Given the description of an element on the screen output the (x, y) to click on. 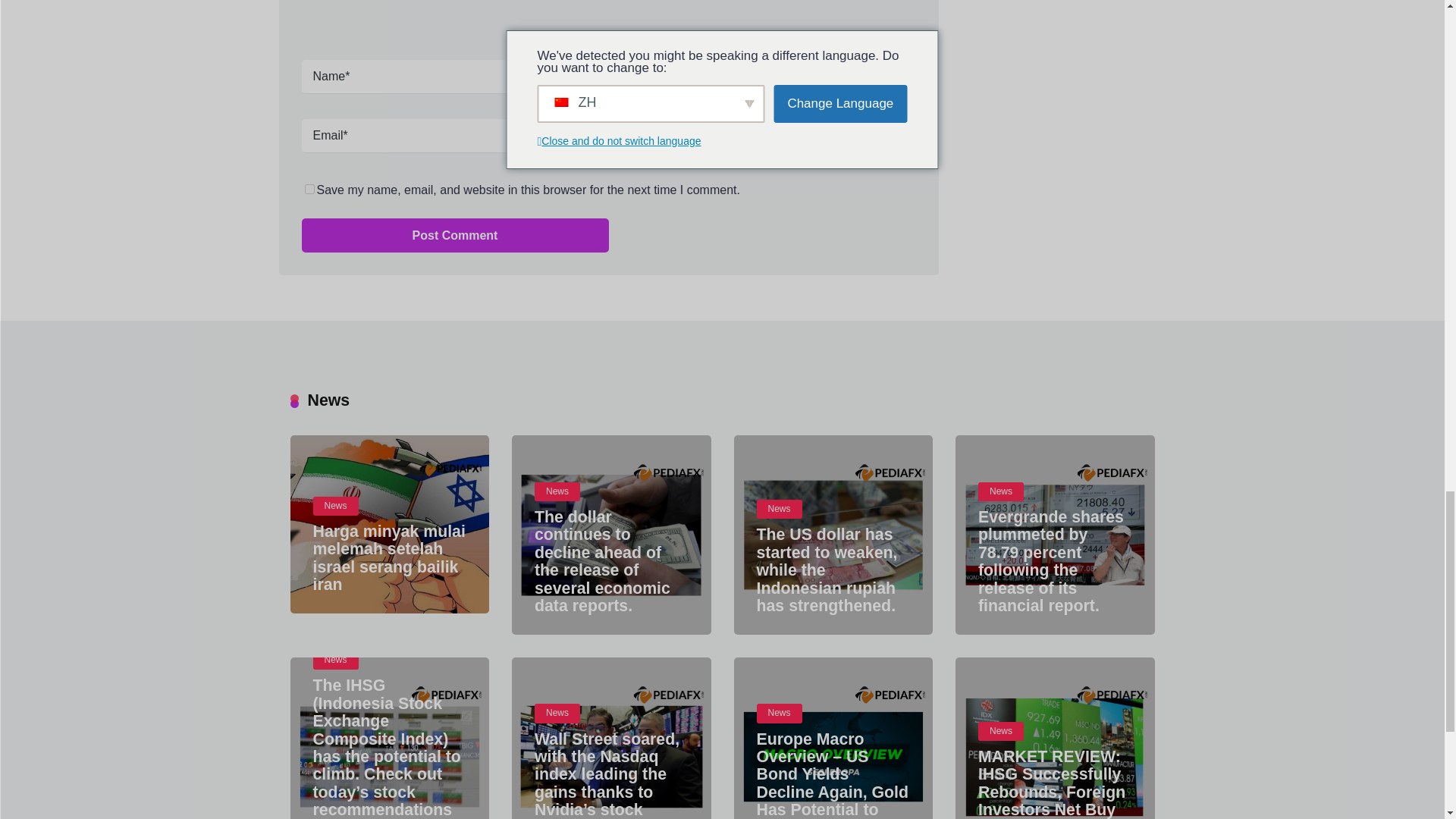
Post Comment (454, 235)
Post Comment (454, 235)
yes (309, 189)
